Given the description of an element on the screen output the (x, y) to click on. 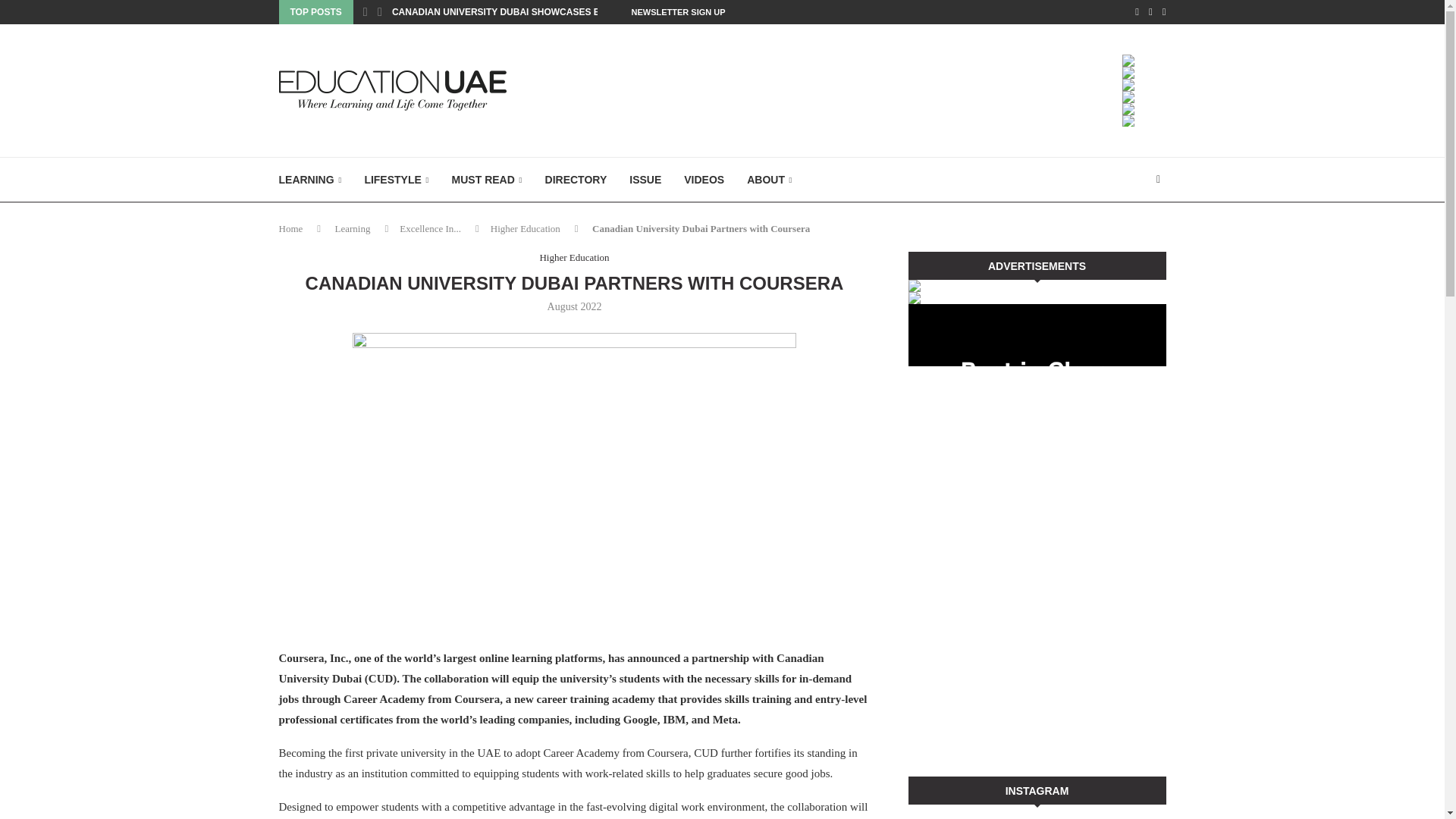
Canadian-1-780 (574, 480)
LEARNING (310, 180)
LIFESTYLE (396, 180)
NEWSLETTER SIGN UP (678, 12)
